Given the description of an element on the screen output the (x, y) to click on. 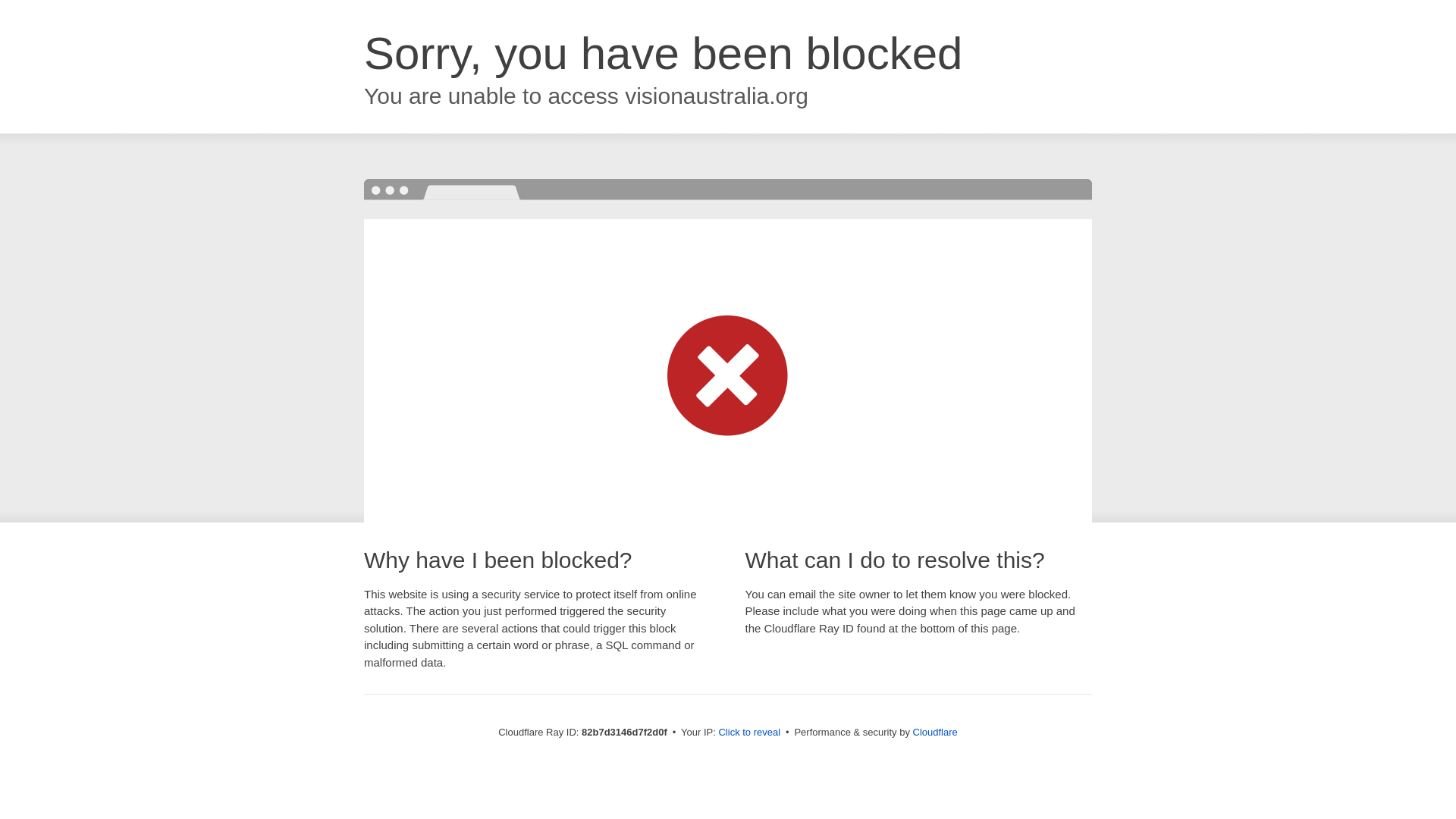
Cloudflare Element type: text (935, 731)
Click to reveal Element type: text (749, 732)
